Given the description of an element on the screen output the (x, y) to click on. 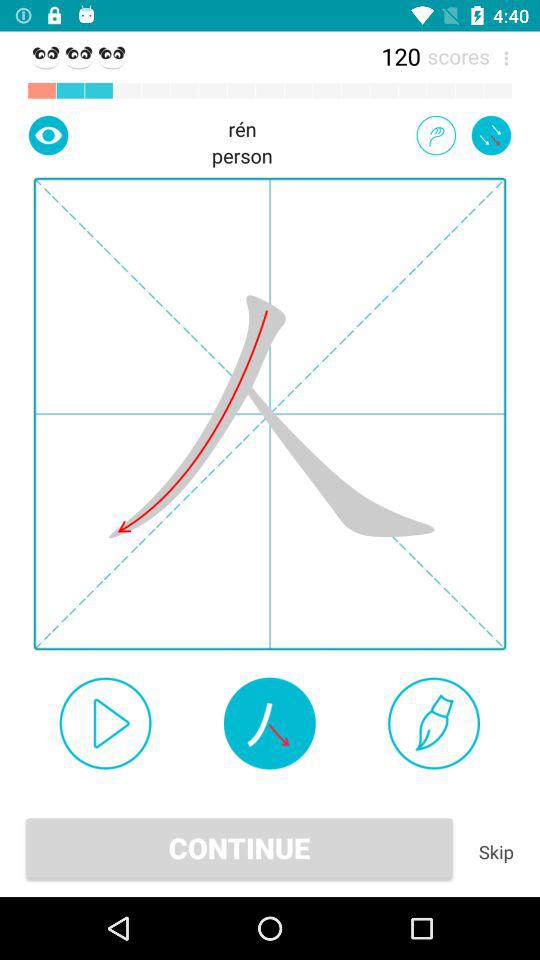
toggle auto play option (105, 723)
